Given the description of an element on the screen output the (x, y) to click on. 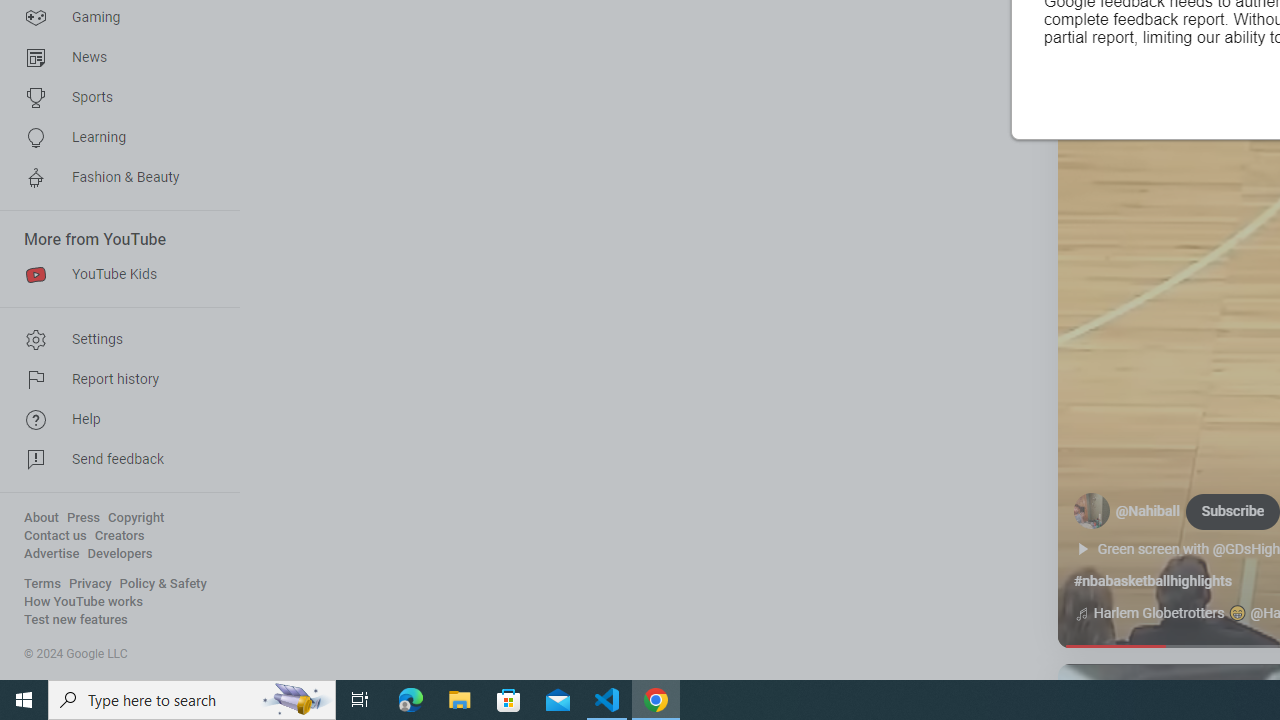
Privacy (89, 584)
Contact us (55, 536)
Test new features (76, 620)
Settings (113, 339)
Policy & Safety (163, 584)
News (113, 57)
Fashion & Beauty (113, 177)
Advertise (51, 554)
Report history (113, 380)
Sports (113, 97)
Copyright (136, 518)
